Given the description of an element on the screen output the (x, y) to click on. 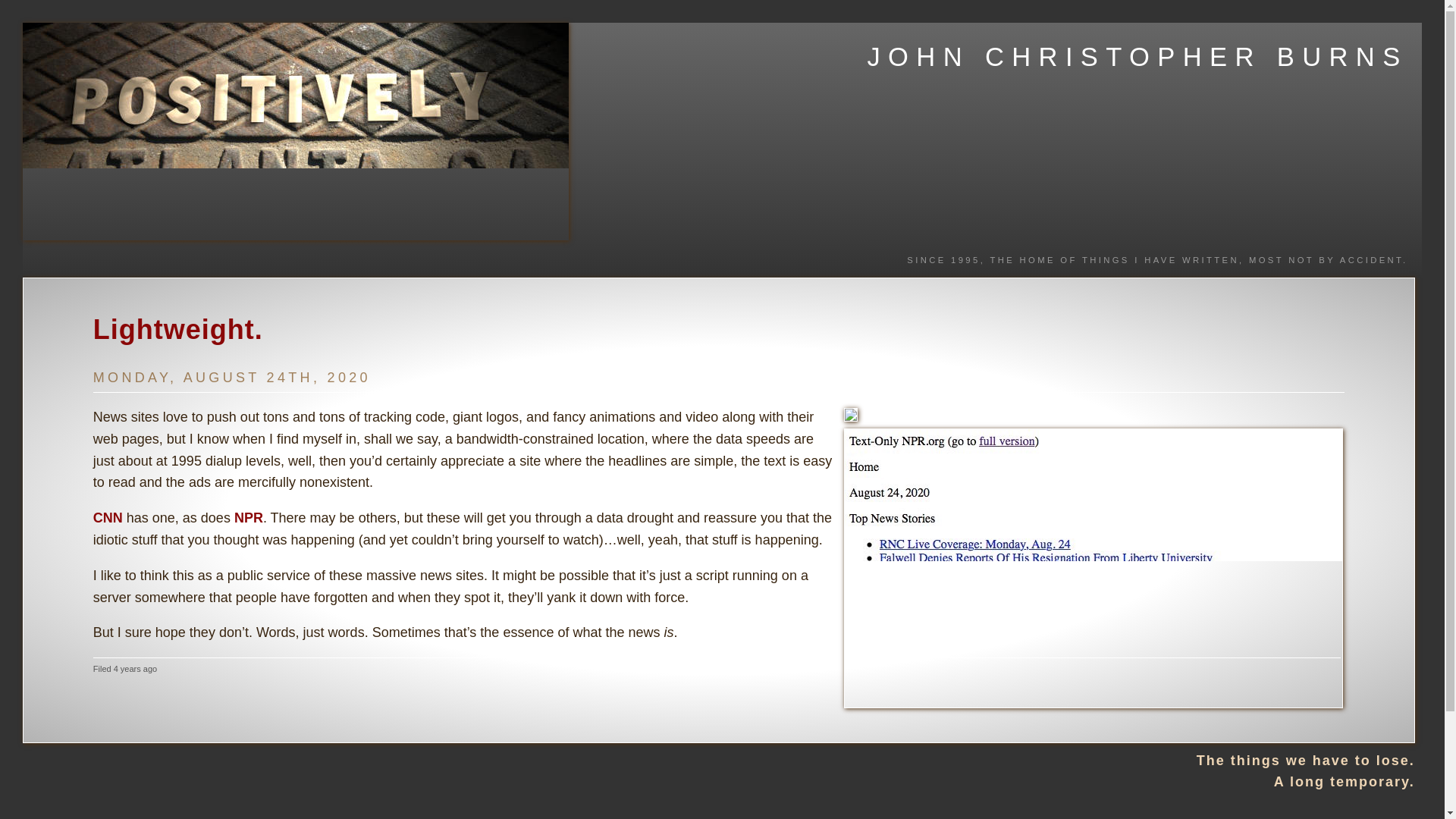
SINCE 1995 (943, 259)
NPR (248, 517)
Lightweight. (178, 328)
CNN (107, 517)
